Given the description of an element on the screen output the (x, y) to click on. 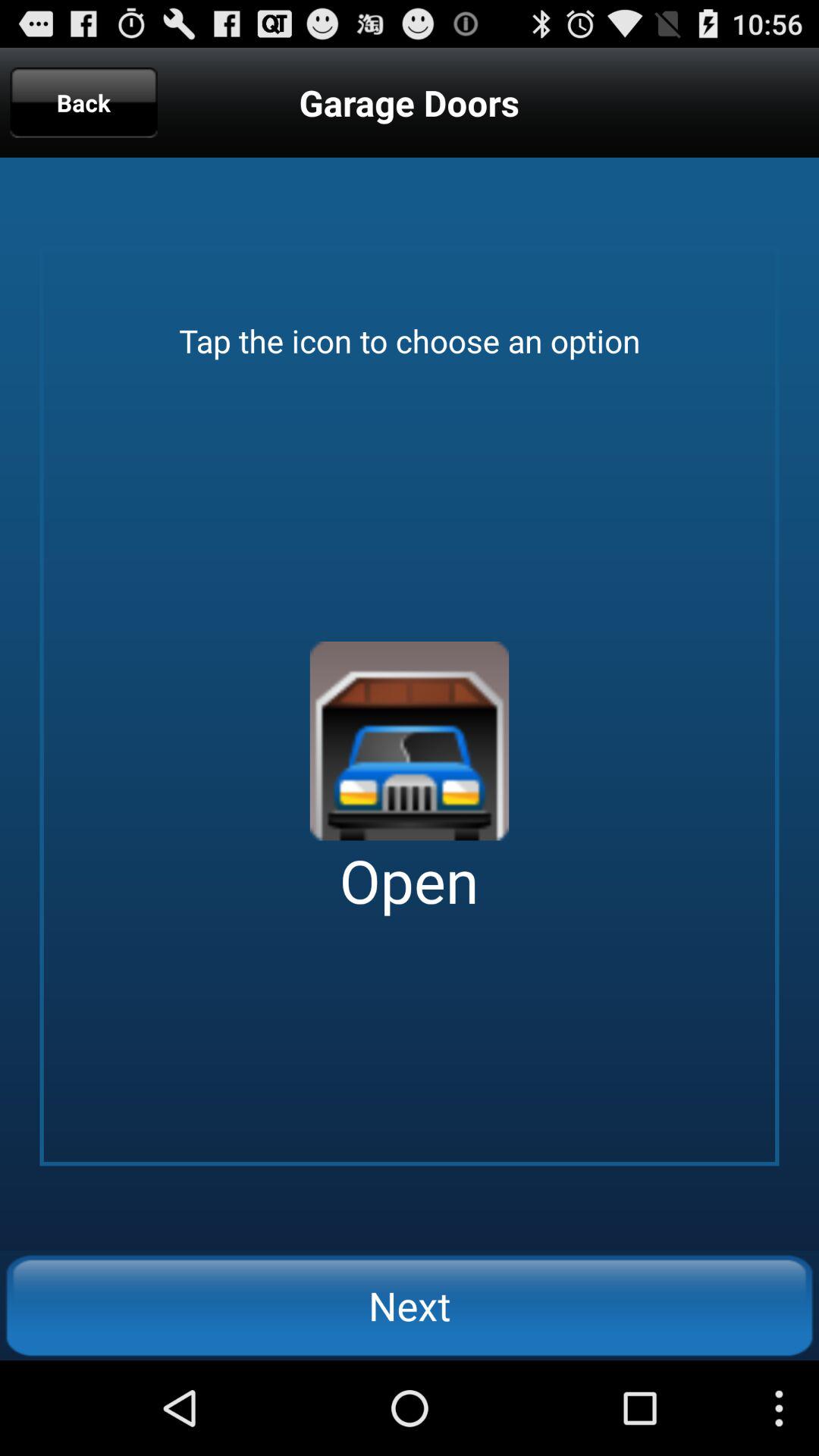
open garage door (409, 740)
